Given the description of an element on the screen output the (x, y) to click on. 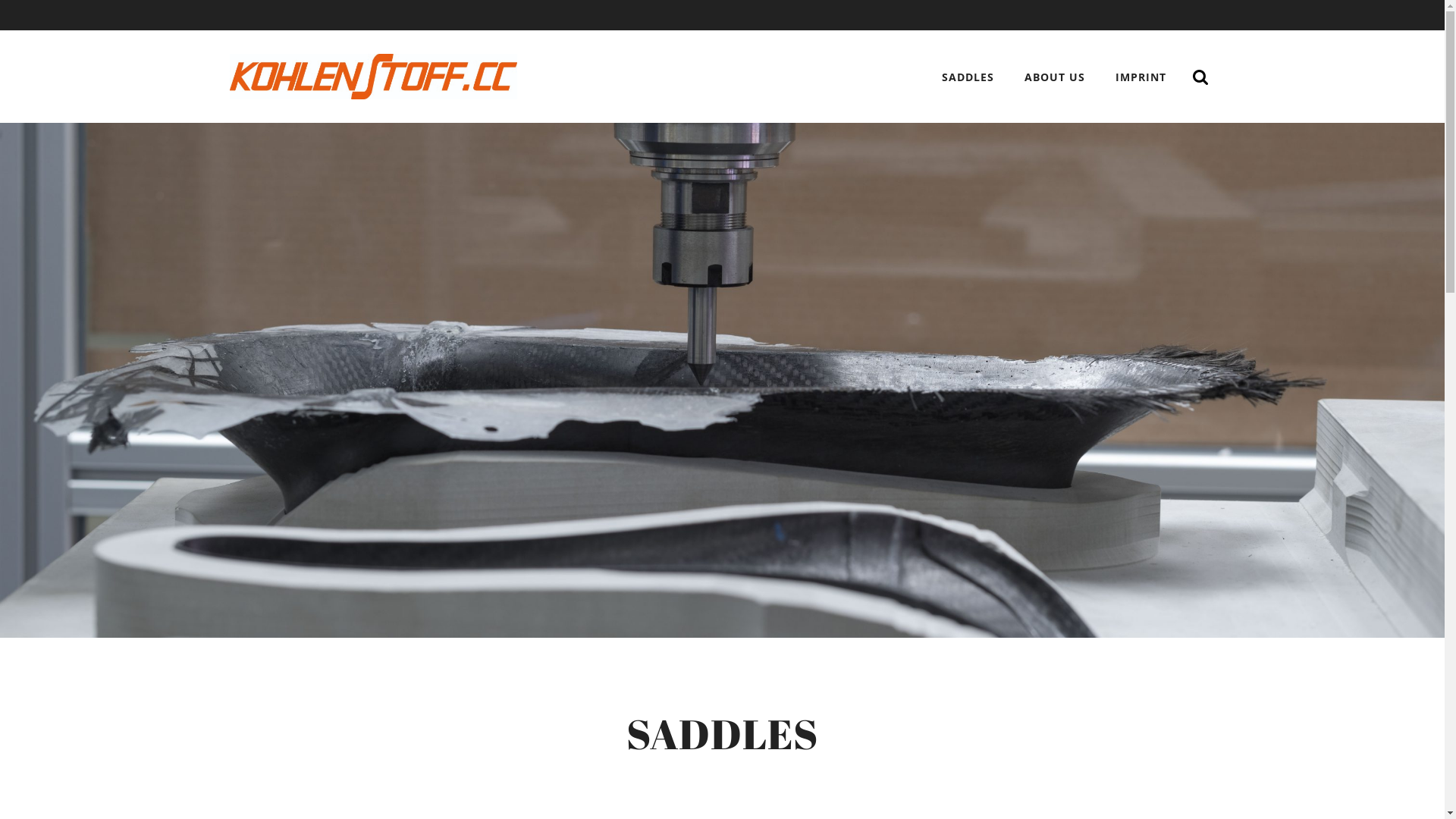
ABOUT US Element type: text (1054, 77)
Show the search field Element type: hover (1199, 77)
IMPRINT Element type: text (1140, 77)
SADDLES Element type: text (966, 77)
